Given the description of an element on the screen output the (x, y) to click on. 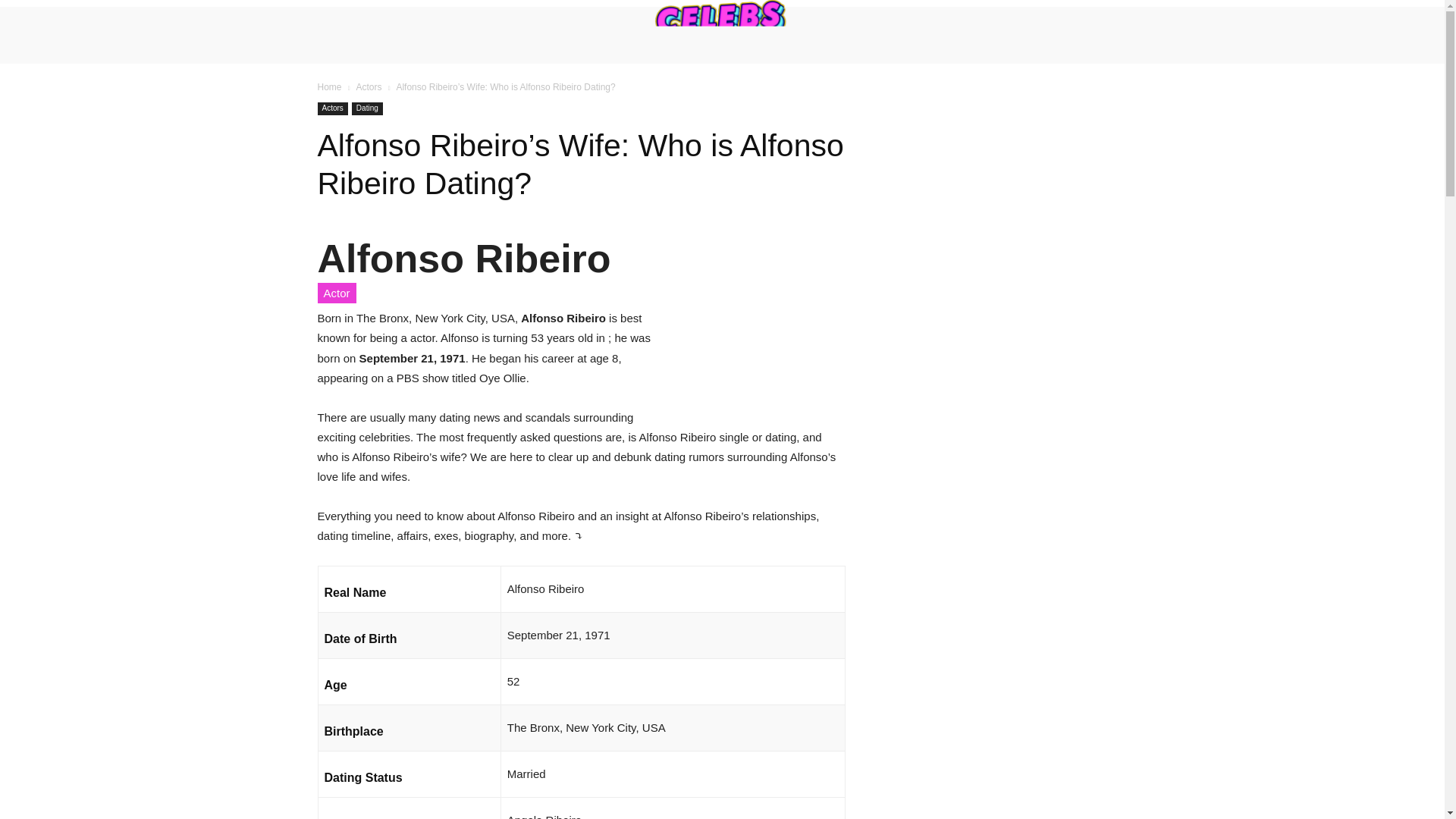
Actors (332, 108)
Dating (367, 108)
View all posts in Actors (368, 86)
Actors (368, 86)
Home (328, 86)
